Given the description of an element on the screen output the (x, y) to click on. 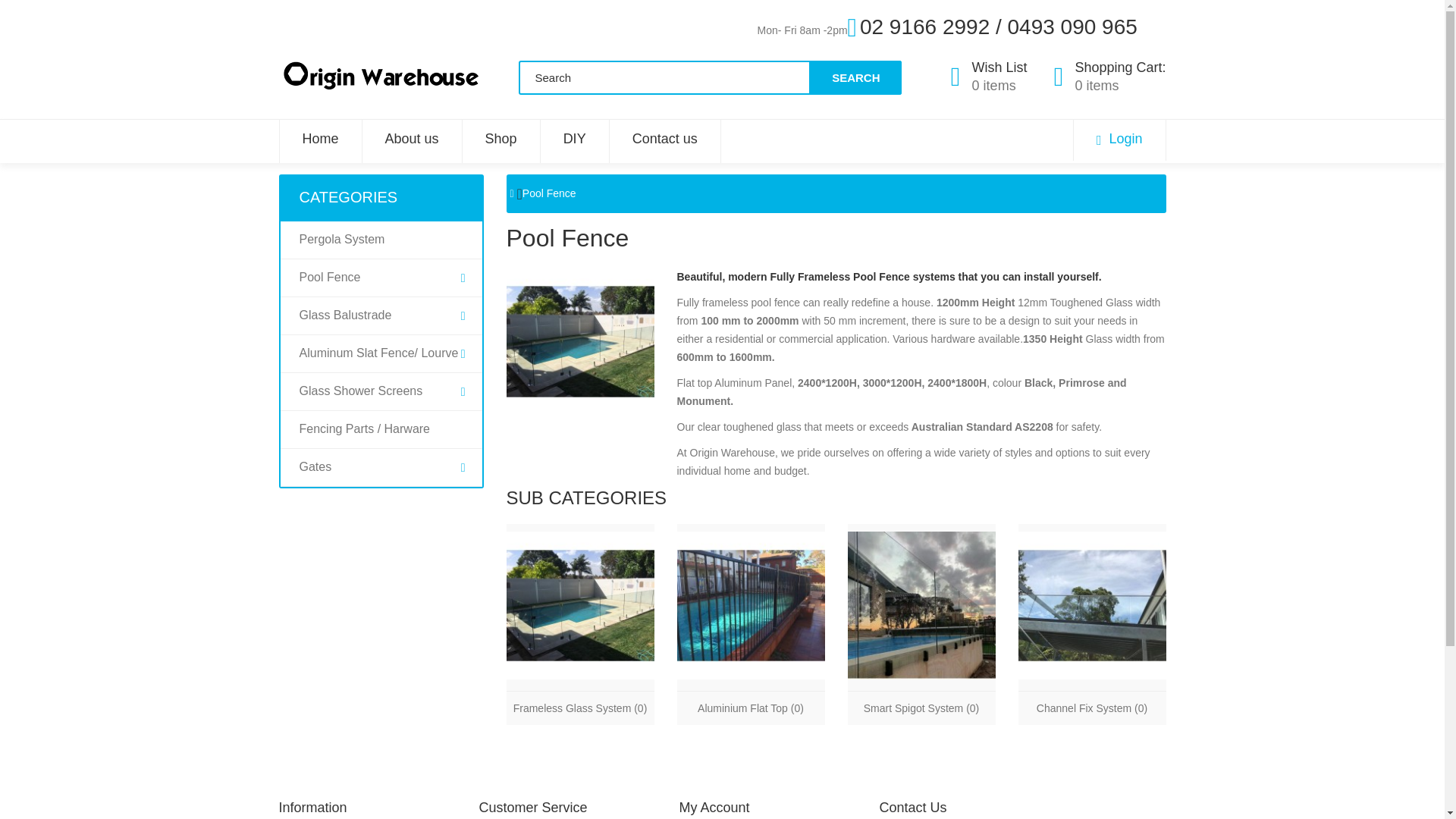
Origin Warehouse (381, 76)
Pool Fence (579, 341)
02 9166 2992 (925, 27)
Shop (500, 138)
SEARCH (855, 77)
0493 090 965 (1072, 27)
Contact us (664, 138)
DIY (574, 138)
About us (412, 138)
Login (1119, 139)
Home (319, 138)
Home (1110, 76)
Wish List (319, 138)
